Given the description of an element on the screen output the (x, y) to click on. 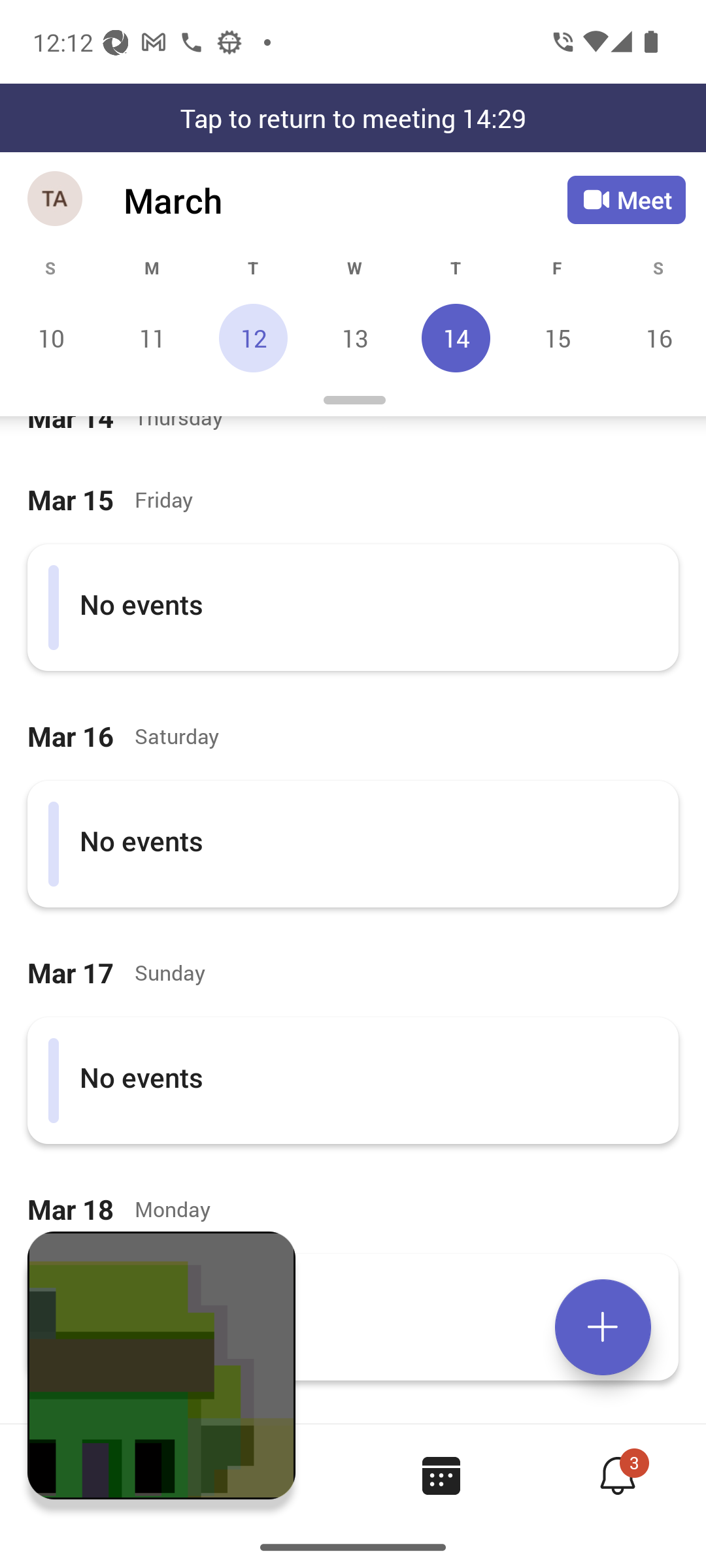
Tap to return to meeting 14:29 (353, 117)
Navigation (56, 199)
Meet Meet now or join with an ID (626, 199)
March March Calendar Agenda View (345, 199)
Sunday, March 10 10 (50, 337)
Monday, March 11 11 (151, 337)
Tuesday, March 12, Today 12 (253, 337)
Wednesday, March 13 13 (354, 337)
Thursday, March 14, Selected 14 (455, 337)
Friday, March 15 15 (556, 337)
Saturday, March 16 16 (656, 337)
Expand meetings menu (602, 1327)
Calendar tab, 3 of 4 (441, 1475)
Activity tab,4 of 4, not selected, 3 new 3 (617, 1475)
